Given the description of an element on the screen output the (x, y) to click on. 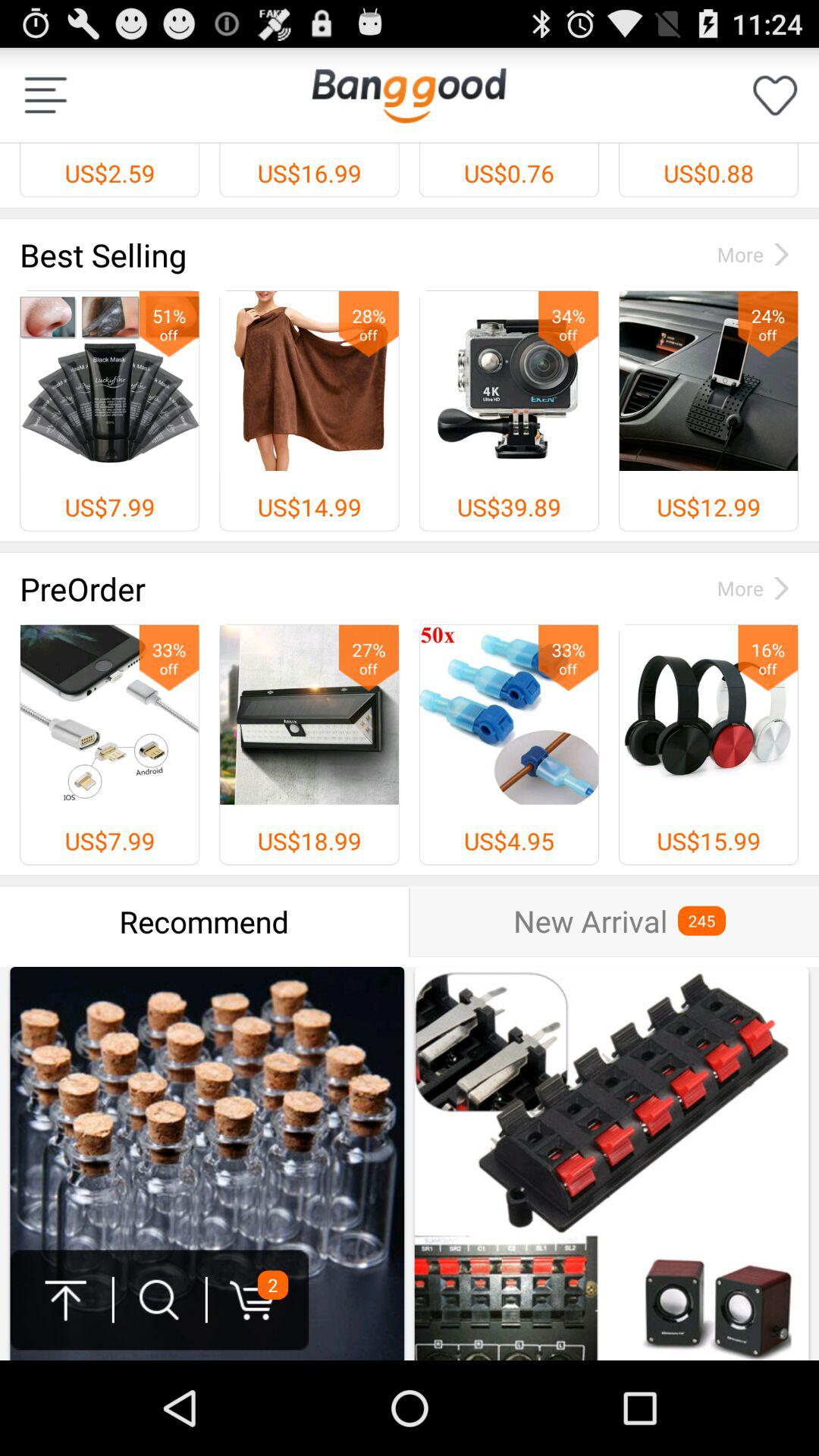
add to wishlist (775, 95)
